Given the description of an element on the screen output the (x, y) to click on. 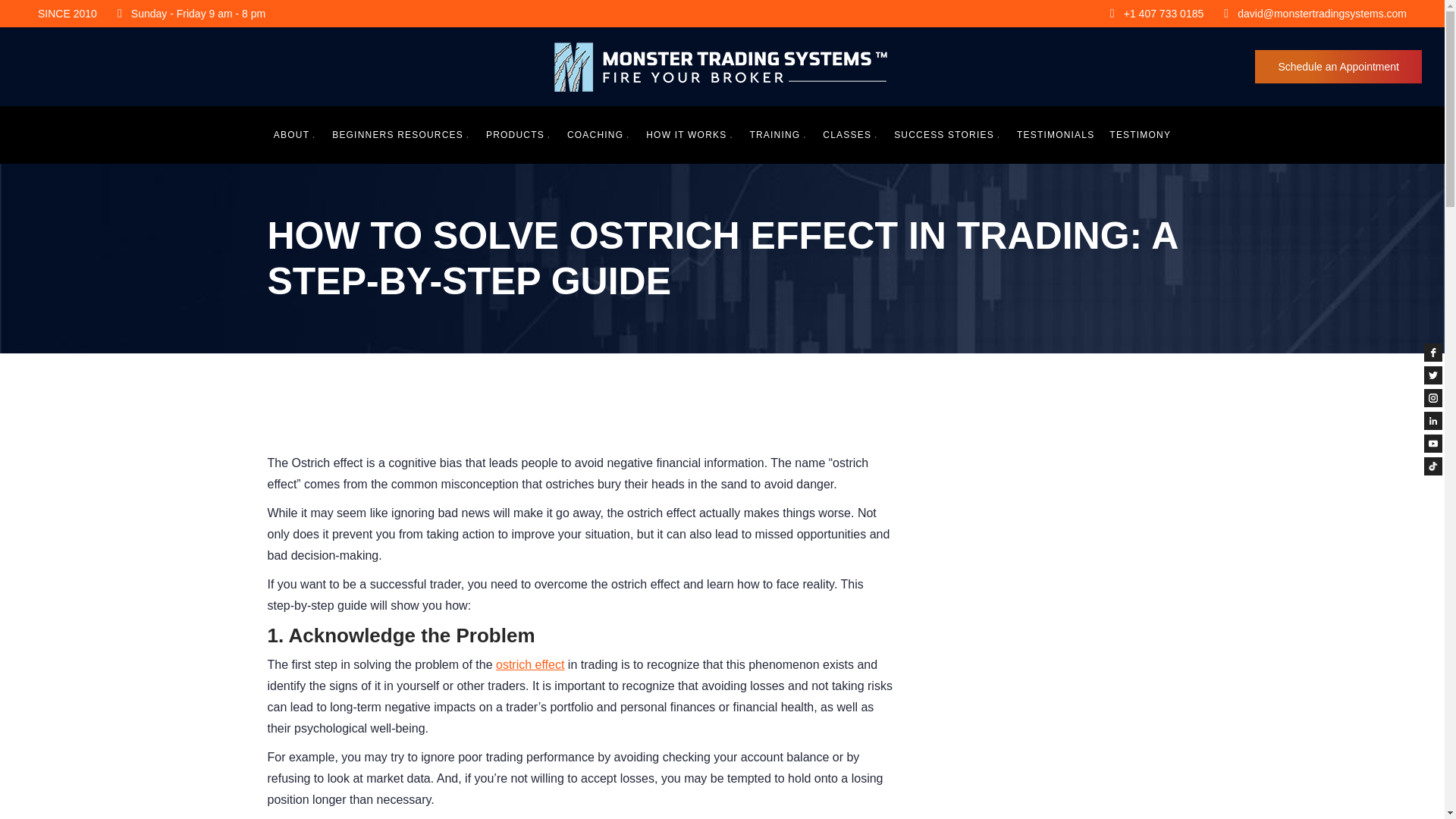
Schedule an Appointment (1338, 66)
PRODUCTS (518, 134)
BEGINNERS RESOURCES (400, 134)
ABOUT (295, 134)
